Given the description of an element on the screen output the (x, y) to click on. 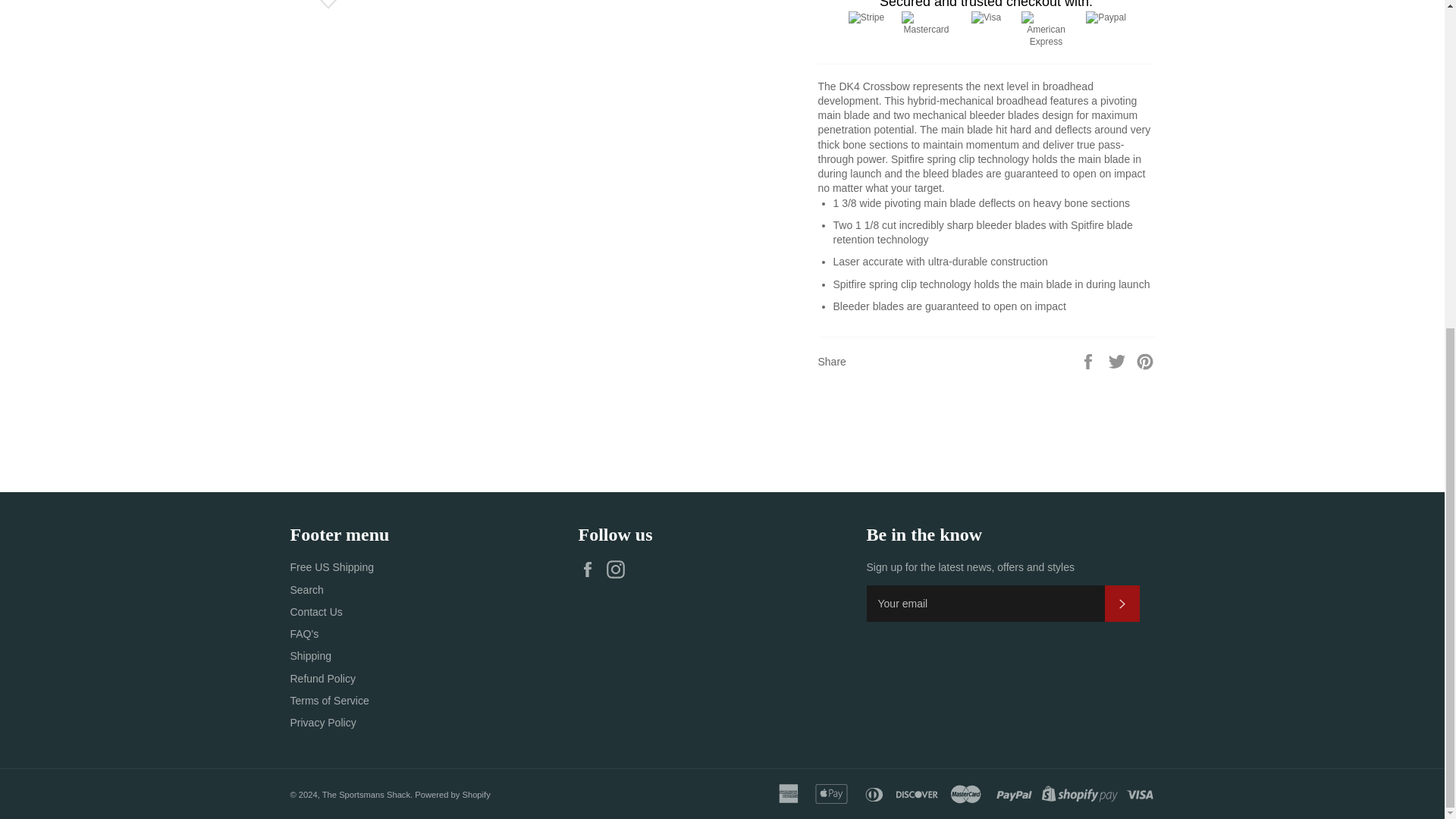
Share on Facebook (1089, 360)
The Sportsmans Shack on Instagram (619, 569)
Pin on Pinterest (1144, 360)
Tweet on Twitter (1118, 360)
The Sportsmans Shack on Facebook (591, 569)
